Given the description of an element on the screen output the (x, y) to click on. 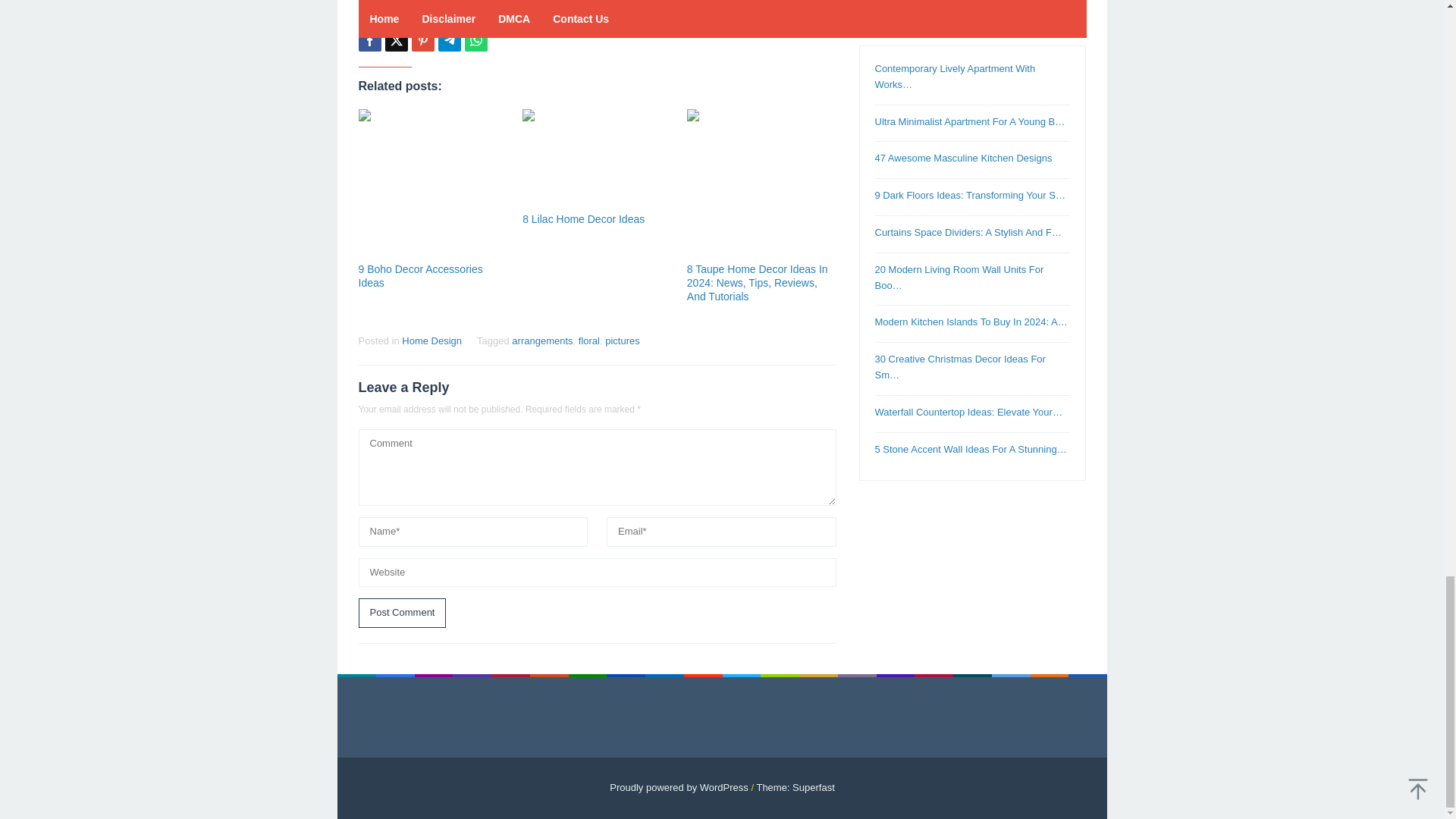
Permalink to: 8 Lilac Home Decor Ideas (583, 218)
Permalink to: 8 Lilac Home Decor Ideas (596, 158)
Tweet this (396, 39)
9 Boho Decor Accessories Ideas (419, 275)
Proudly powered by WordPress (679, 787)
Whatsapp (475, 39)
Home Design (431, 340)
Post Comment (401, 613)
arrangements (542, 340)
